Given the description of an element on the screen output the (x, y) to click on. 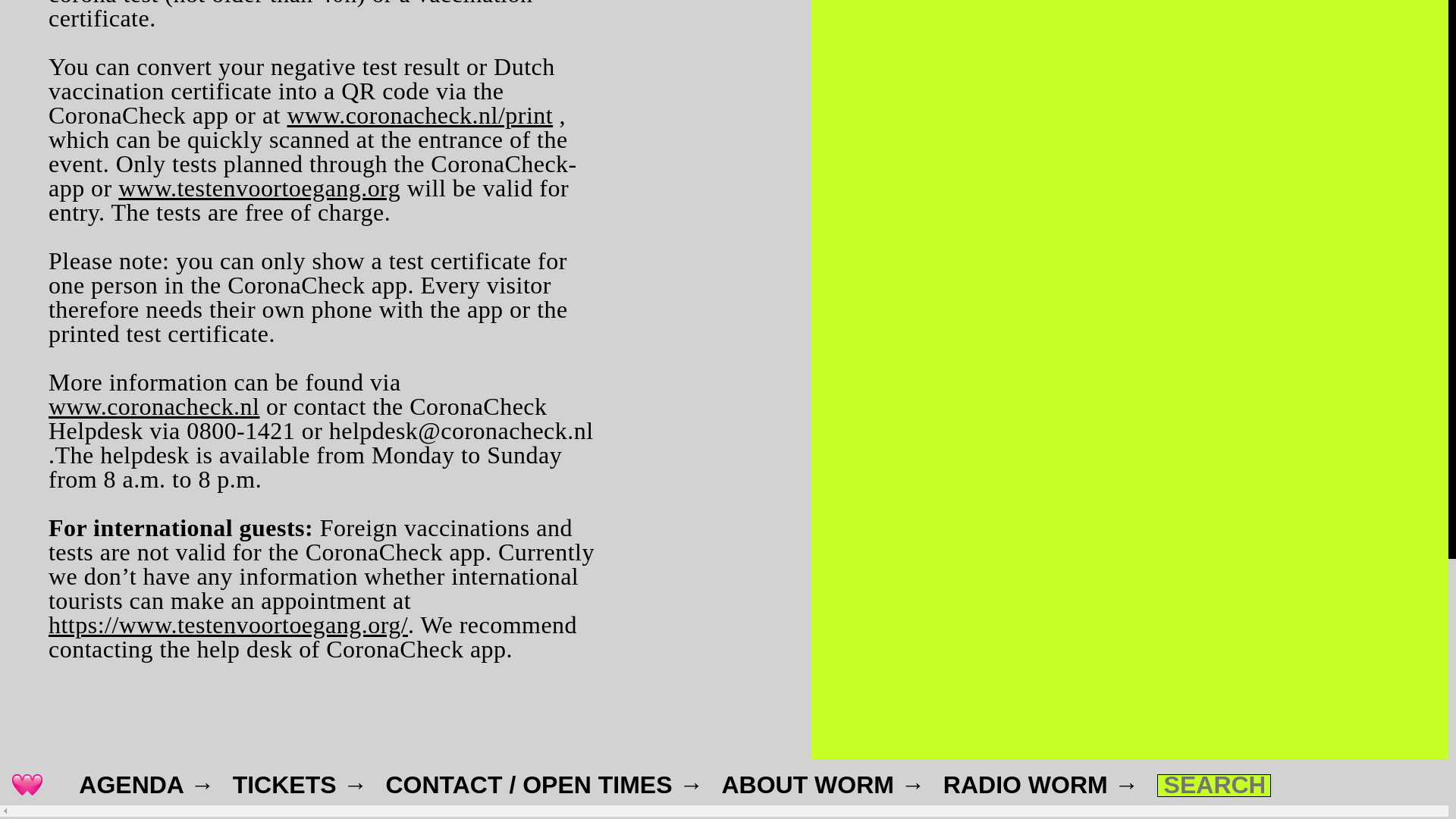
www.coronacheck.nl (153, 406)
www.testenvoortoegang.org (258, 187)
Search for: (1214, 784)
